Given the description of an element on the screen output the (x, y) to click on. 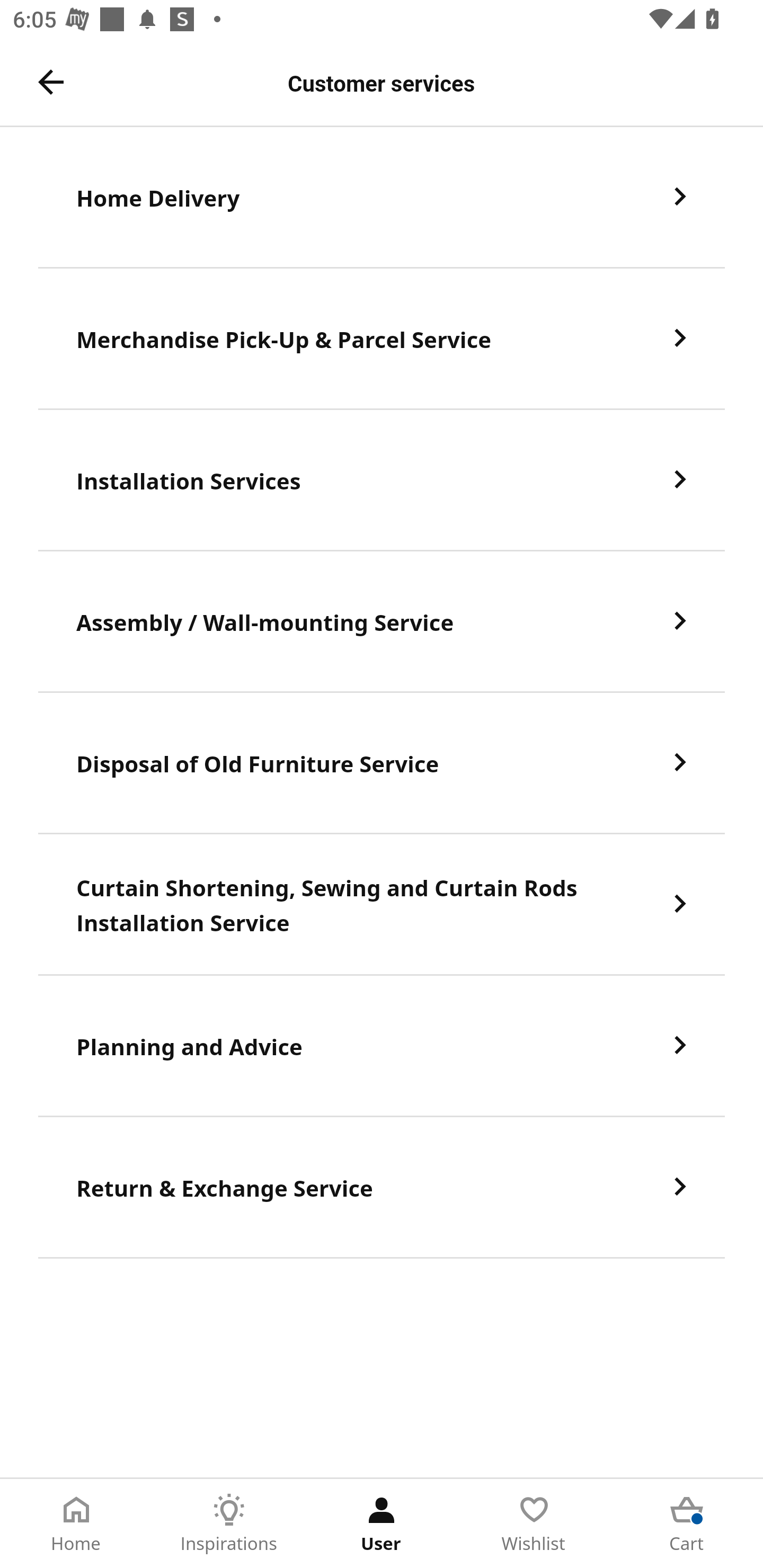
Home Delivery (381, 197)
Merchandise Pick-Up & Parcel Service (381, 338)
Installation Services (381, 480)
Assembly / Wall-mounting Service (381, 622)
Disposal of Old Furniture Service (381, 763)
Planning and Advice (381, 1045)
Return & Exchange Service (381, 1187)
Home
Tab 1 of 5 (76, 1522)
Inspirations
Tab 2 of 5 (228, 1522)
User
Tab 3 of 5 (381, 1522)
Wishlist
Tab 4 of 5 (533, 1522)
Cart
Tab 5 of 5 (686, 1522)
